Given the description of an element on the screen output the (x, y) to click on. 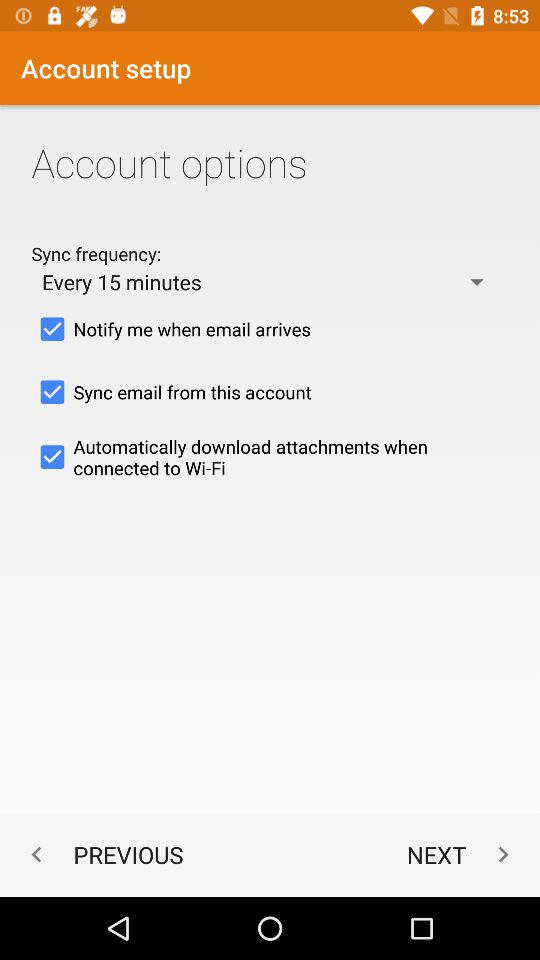
scroll until automatically download attachments icon (269, 457)
